Given the description of an element on the screen output the (x, y) to click on. 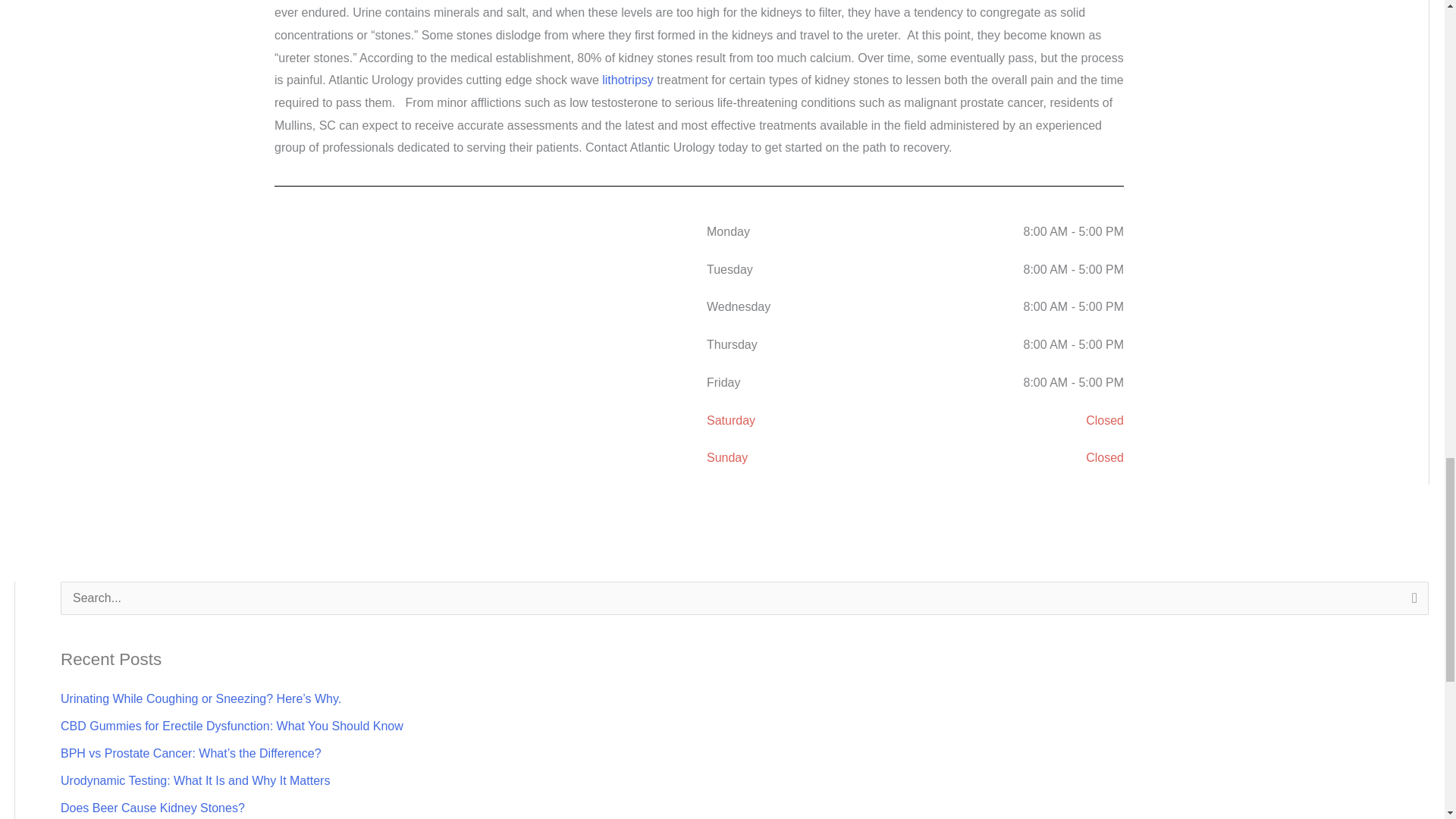
Atlantic Urology Clinics Mullins, SC (483, 326)
